Given the description of an element on the screen output the (x, y) to click on. 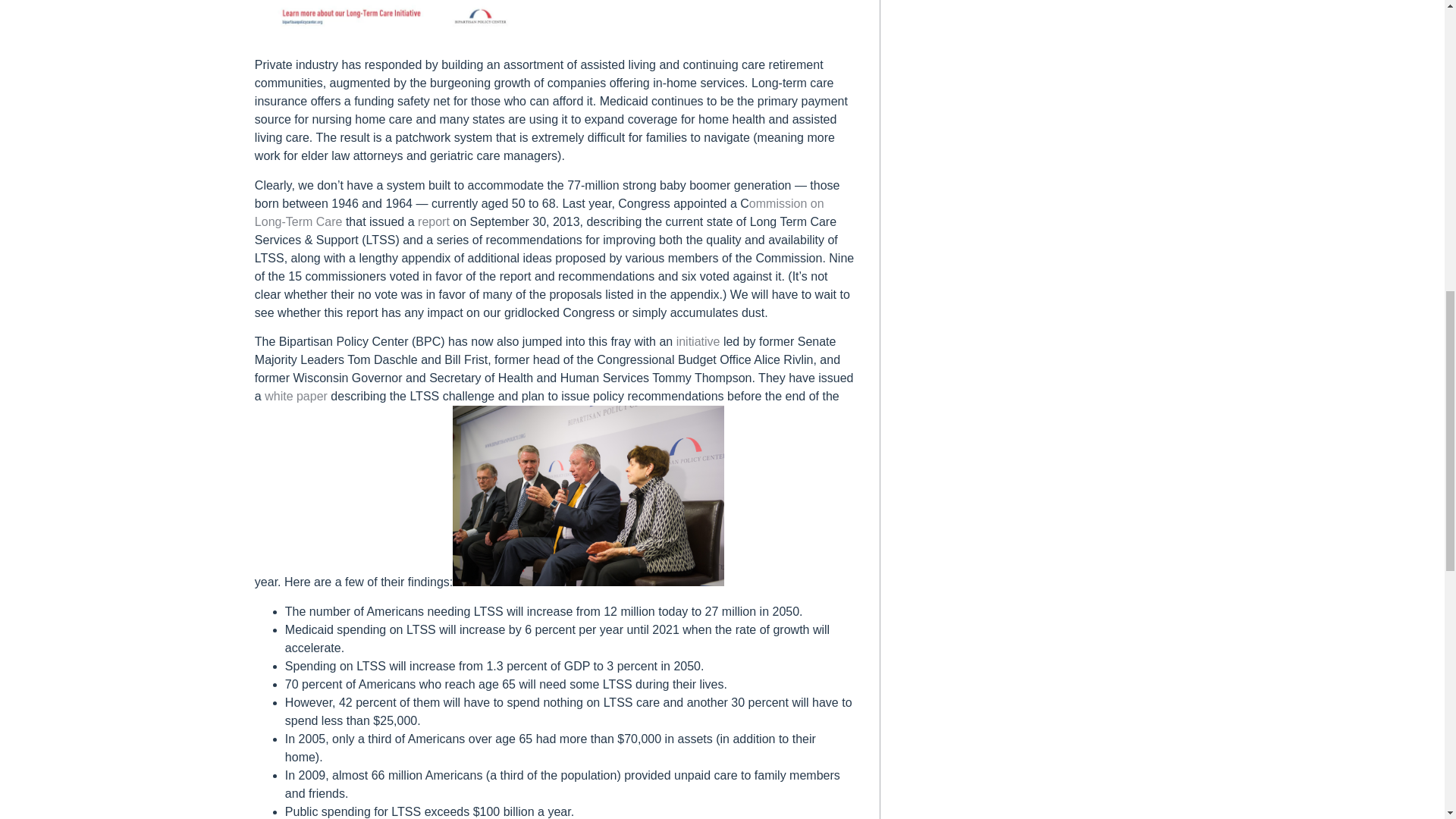
white paper   (297, 395)
Bipartisan Policy Center Working on Long-Term Care Proposal (587, 495)
Bipartisan Policy Center Working on Long-Term Care Proposal (395, 20)
initiative (698, 341)
ommission on Long-Term Care (539, 212)
report (433, 221)
